Given the description of an element on the screen output the (x, y) to click on. 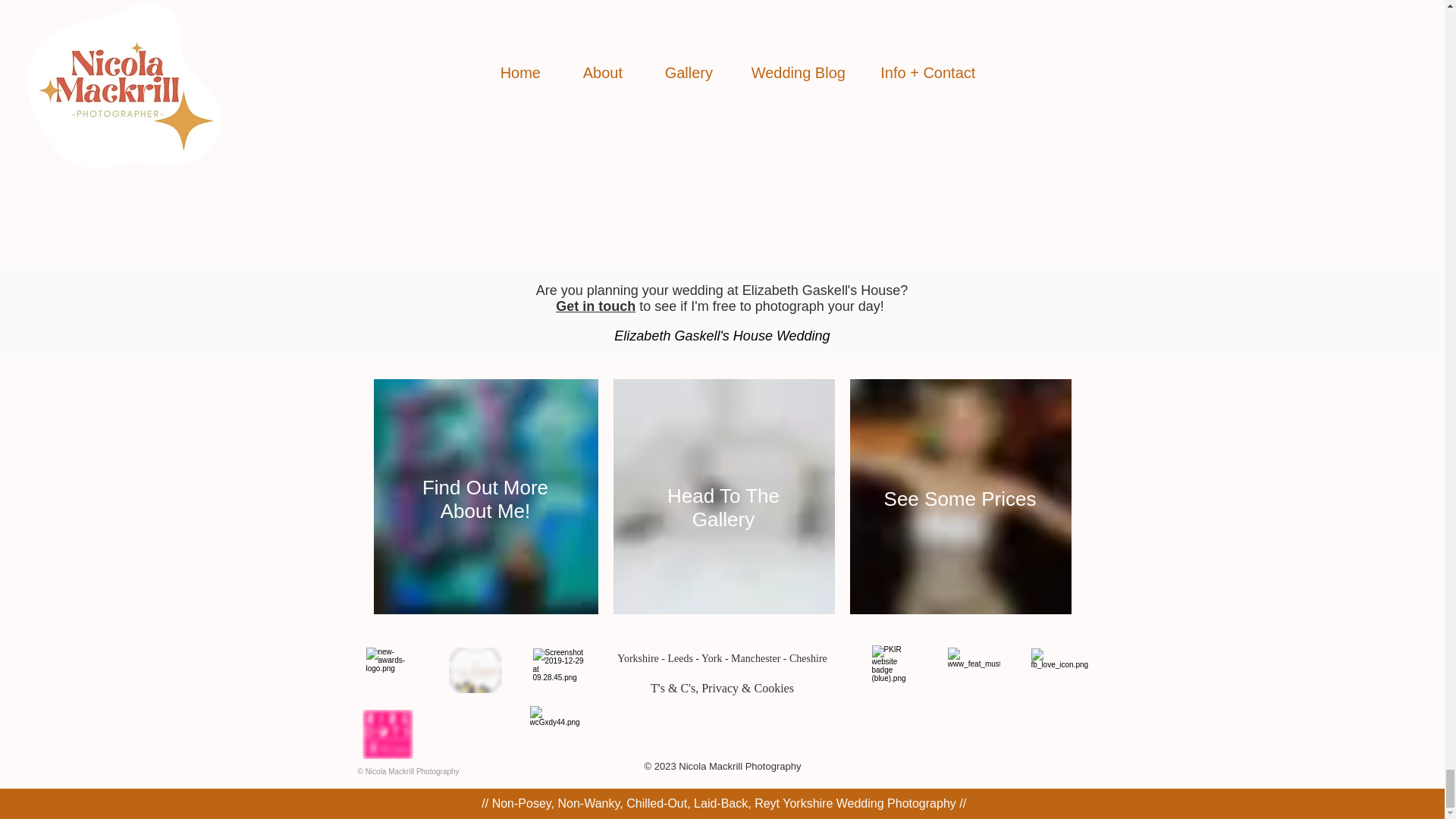
Head To The Gallery (722, 507)
Get in touch (595, 305)
Find Out More About Me! (485, 498)
Elizabeth Gaskell's House Wedding (721, 335)
See Some Prices (959, 498)
